Given the description of an element on the screen output the (x, y) to click on. 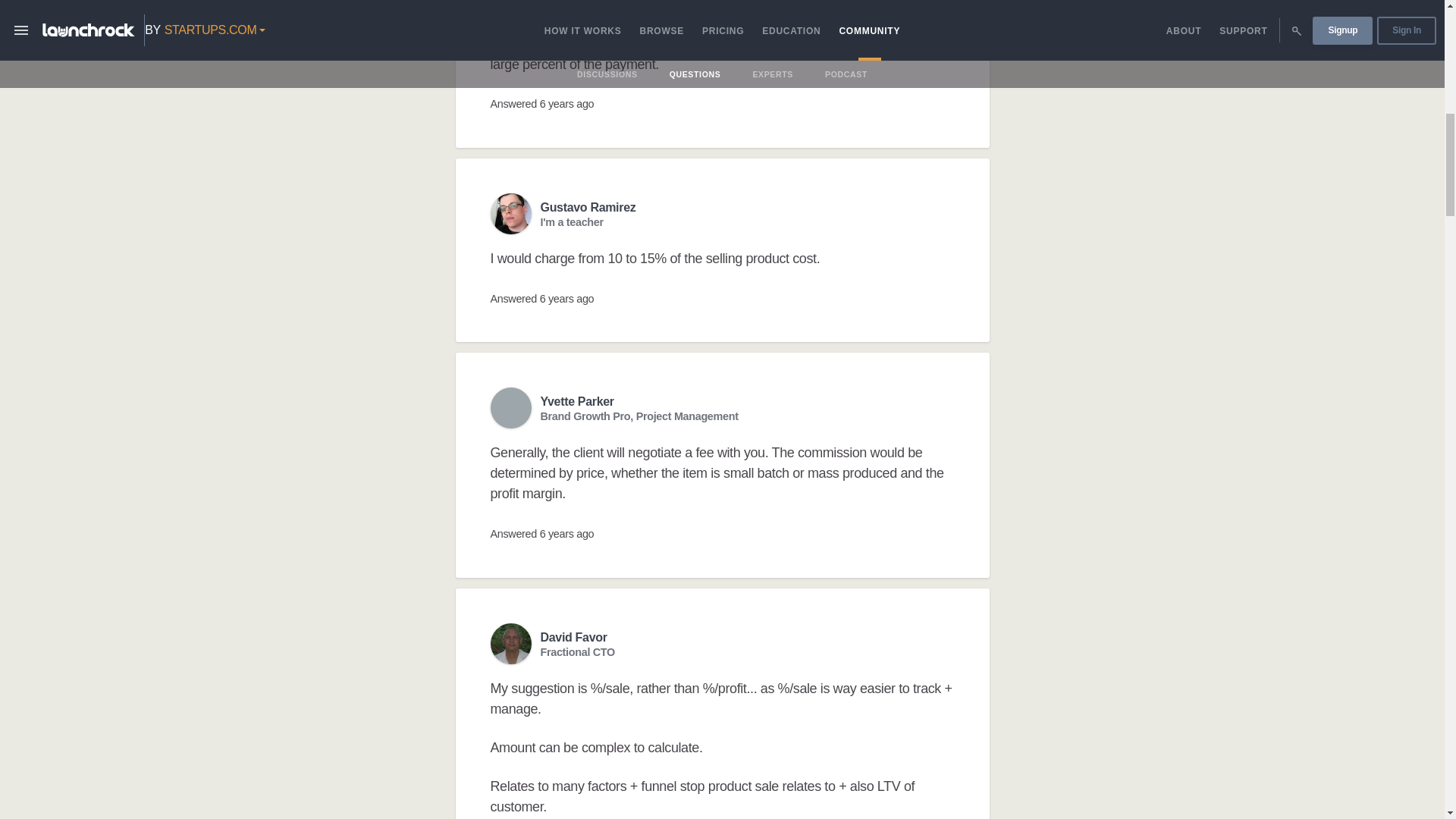
Photo of David Favor (510, 643)
Photo of Gustavo Ramirez (510, 213)
Photo of Yvette Parker (510, 407)
